Given the description of an element on the screen output the (x, y) to click on. 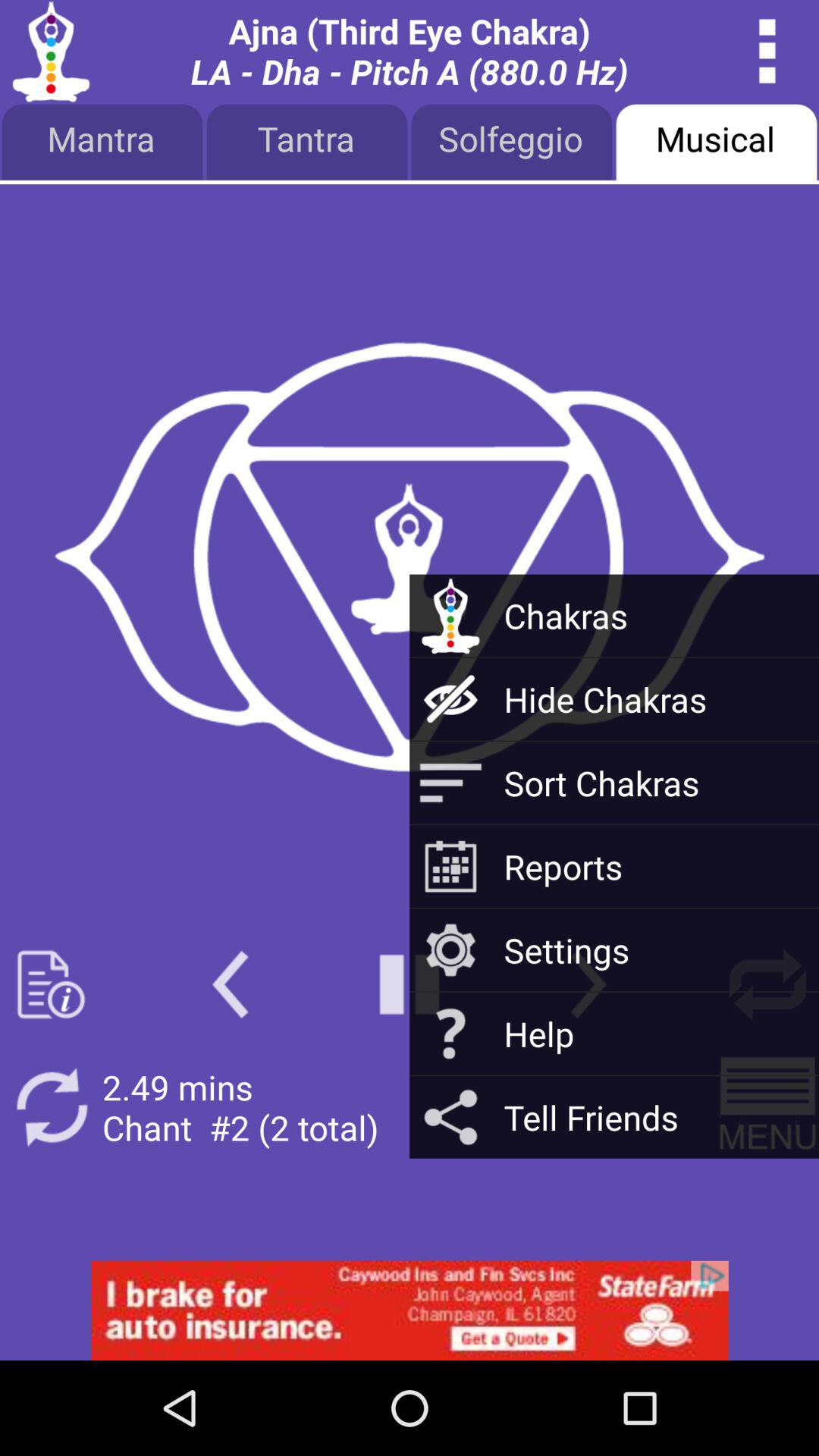
go back (230, 984)
